Given the description of an element on the screen output the (x, y) to click on. 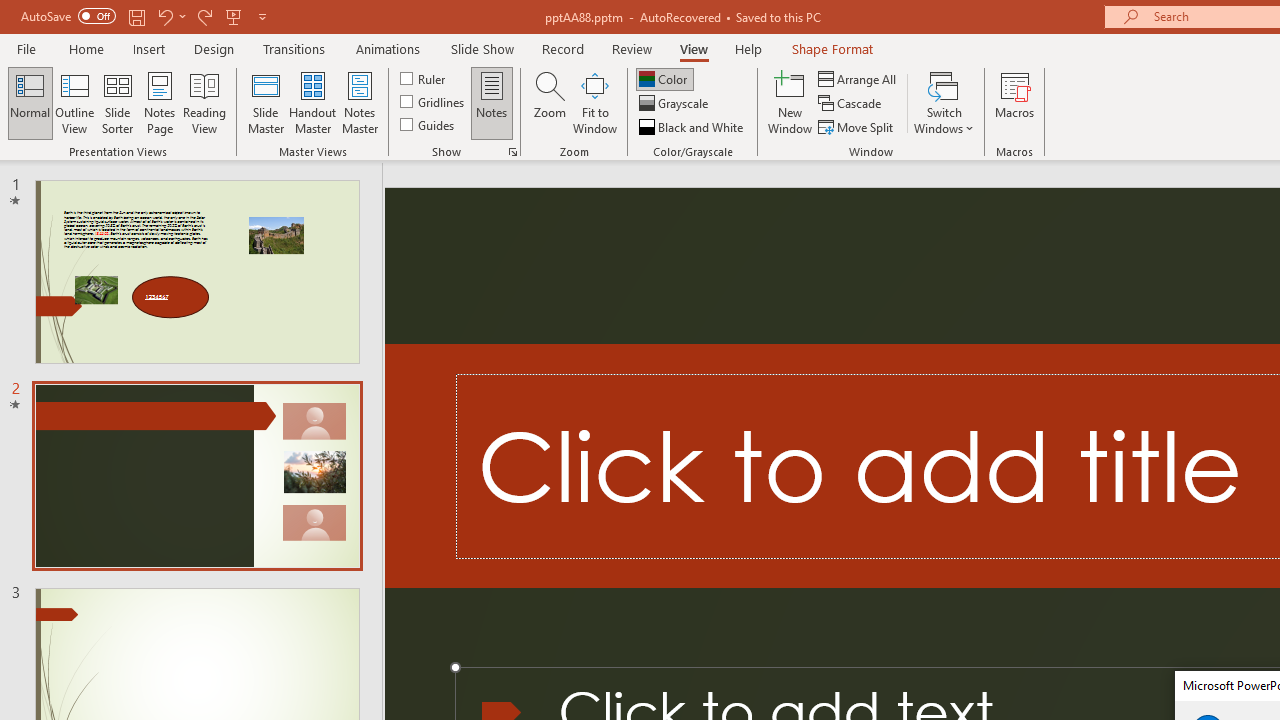
Ruler (423, 78)
Guides (428, 124)
